Given the description of an element on the screen output the (x, y) to click on. 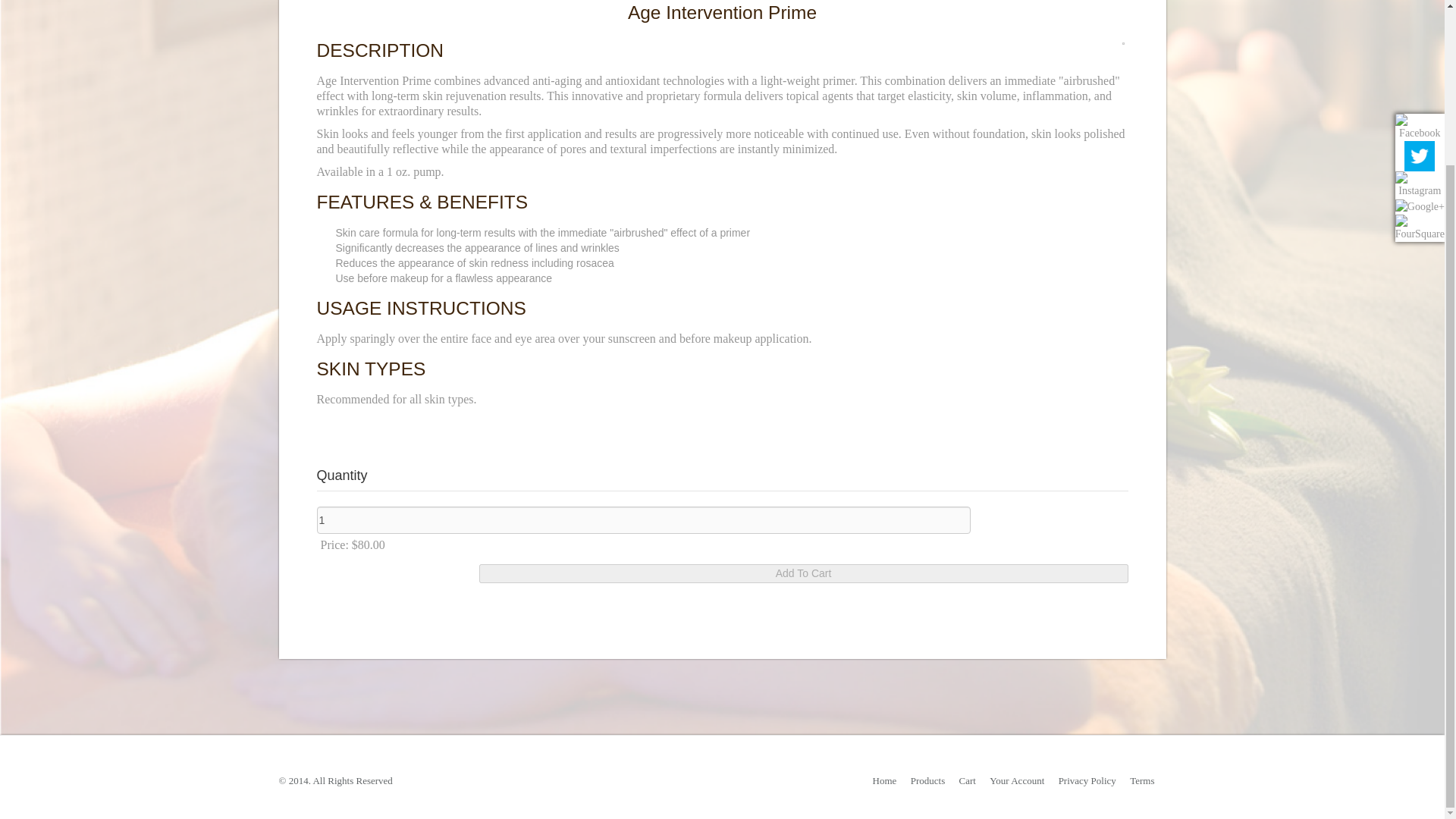
Home (884, 780)
Add To Cart (803, 573)
Cart (967, 780)
1 (644, 519)
Products (927, 780)
Privacy Policy (1087, 780)
Your Account (1016, 780)
Terms (1141, 780)
Add To Cart (803, 573)
